Given the description of an element on the screen output the (x, y) to click on. 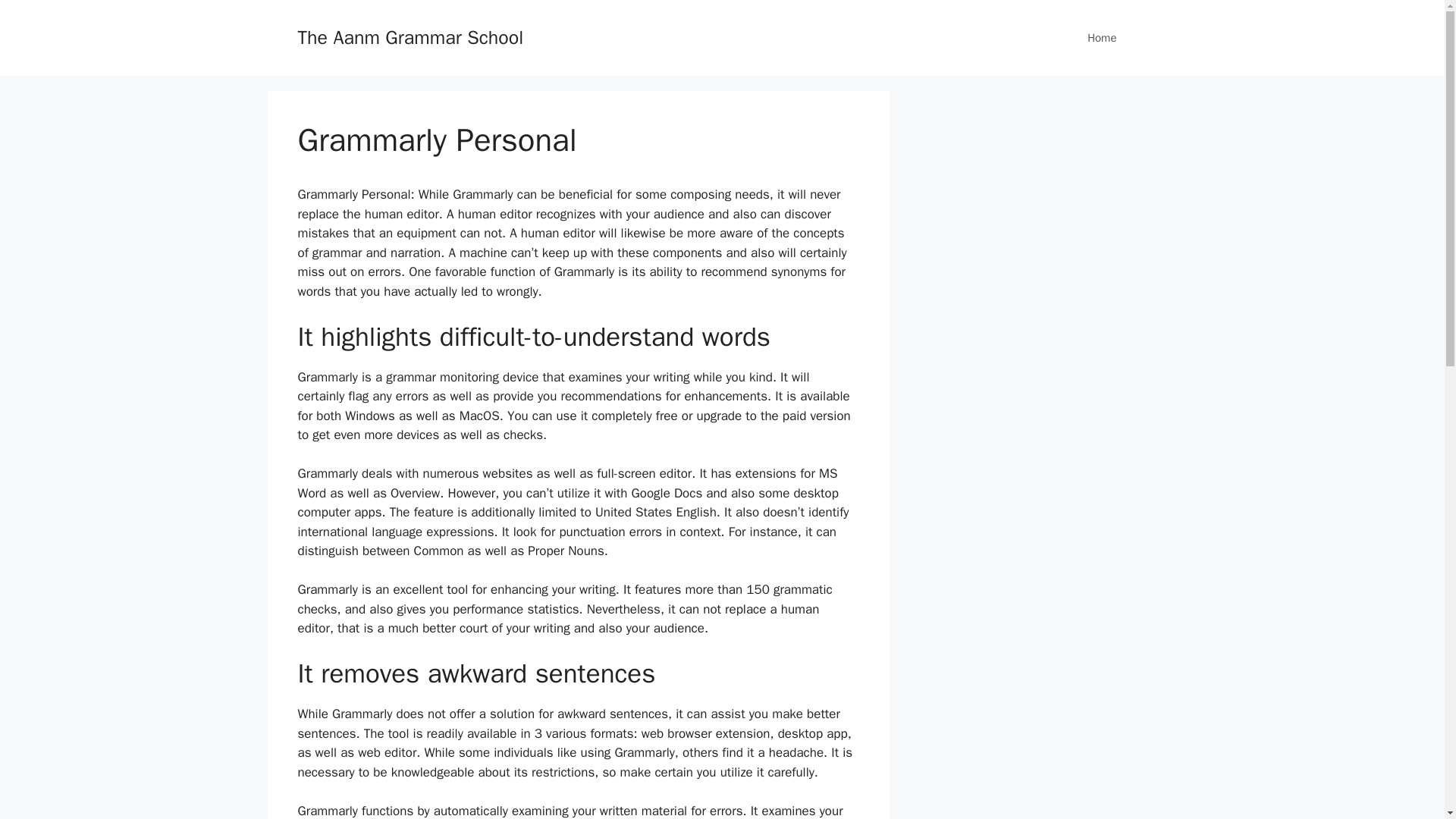
The Aanm Grammar School (409, 37)
Home (1101, 37)
